Given the description of an element on the screen output the (x, y) to click on. 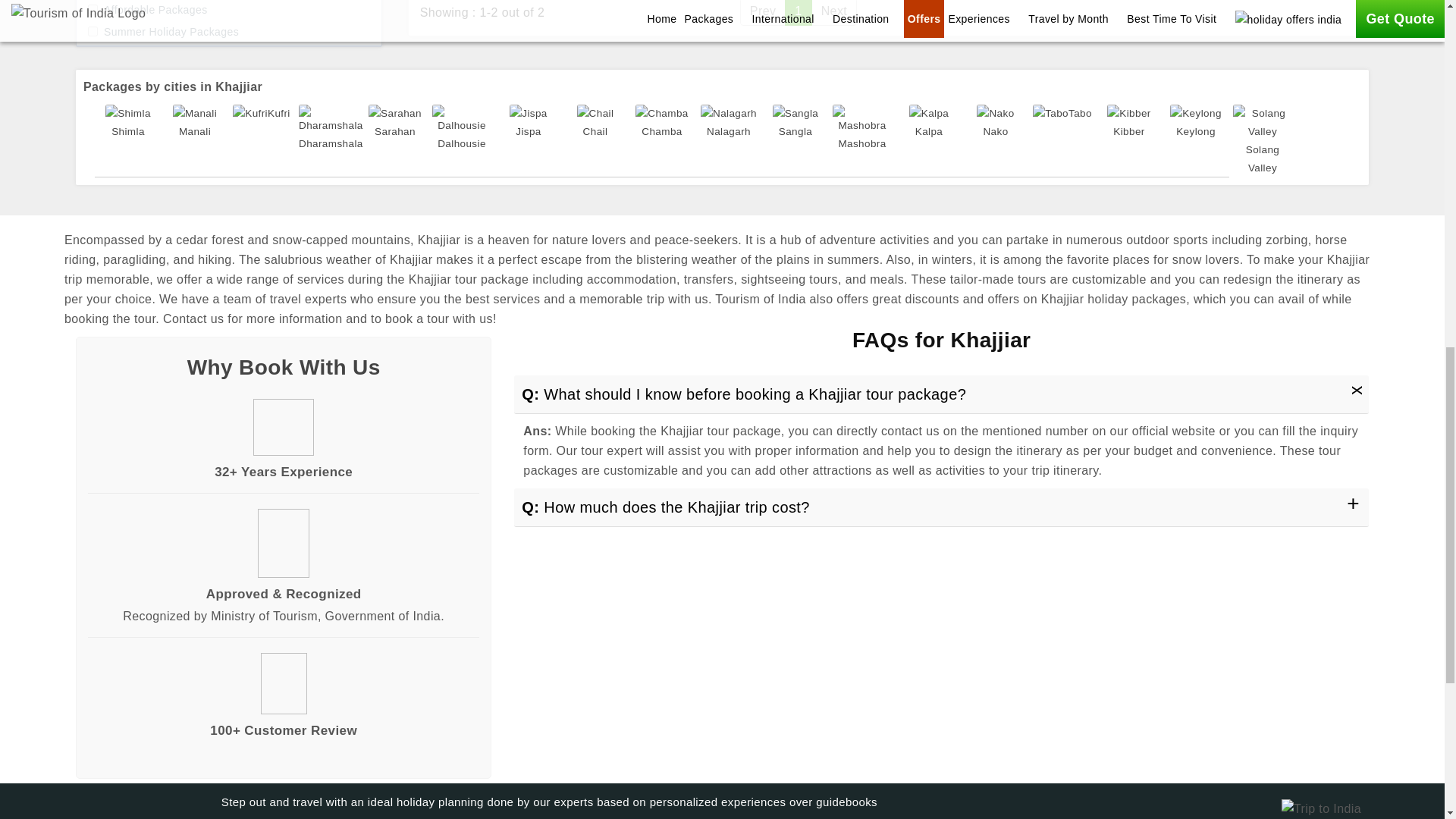
Kibber (1128, 122)
Jispa (528, 122)
Dalhousie (462, 128)
Tabo (1062, 113)
Chamba (661, 122)
Sarahan (395, 122)
Shimla (128, 122)
Chail (595, 122)
Kalpa (928, 122)
Sangla (795, 122)
